Given the description of an element on the screen output the (x, y) to click on. 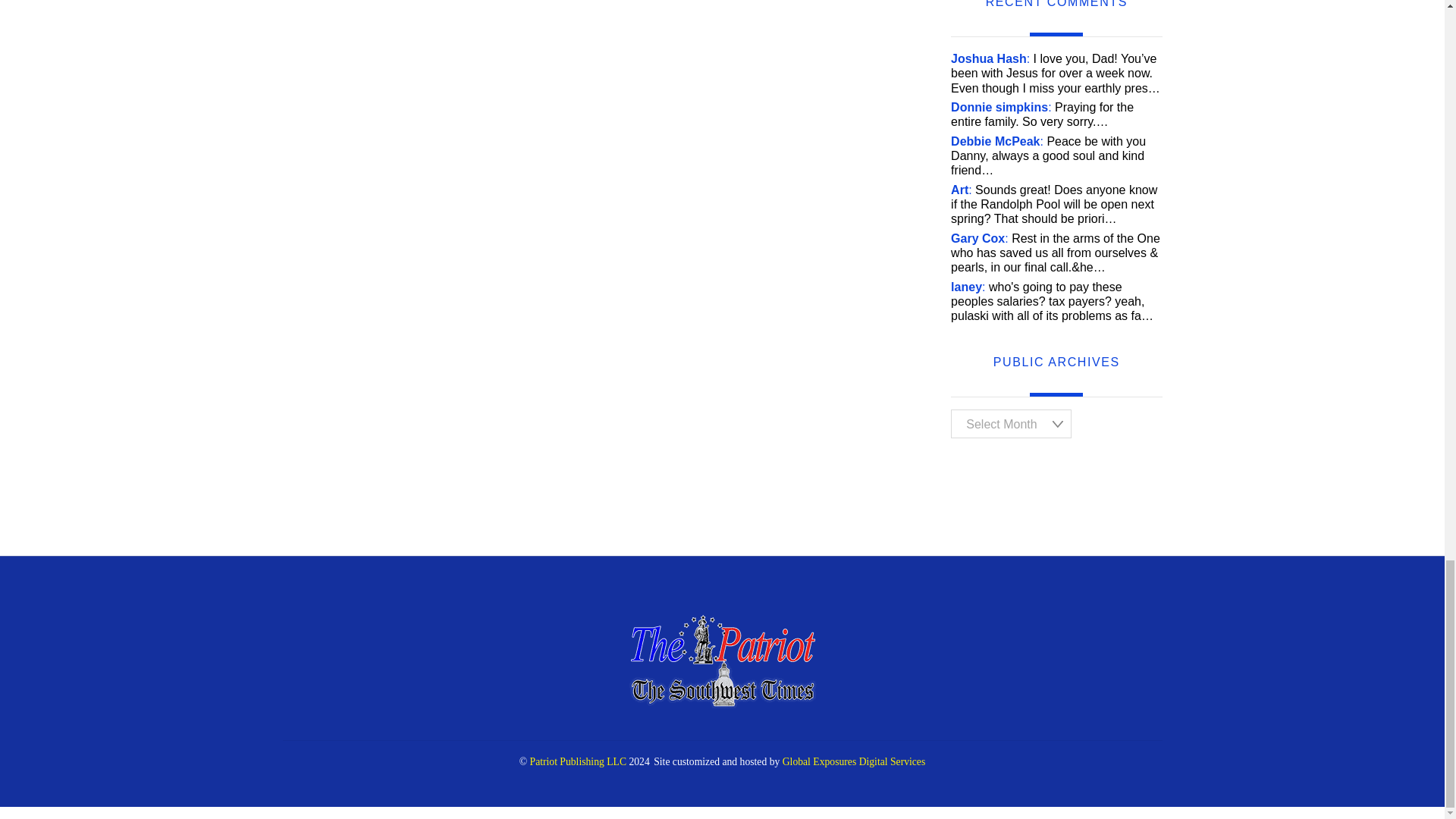
Donnie simpkins: (1000, 106)
Art: (961, 189)
Debbie McPeak: (996, 141)
Gary Cox: (979, 237)
Joshua Hash: (989, 58)
Patriot Publishing LLC (577, 761)
Global Exposures Digital Services (854, 761)
laney: (967, 286)
Patriot Publishing LLC (721, 702)
